Given the description of an element on the screen output the (x, y) to click on. 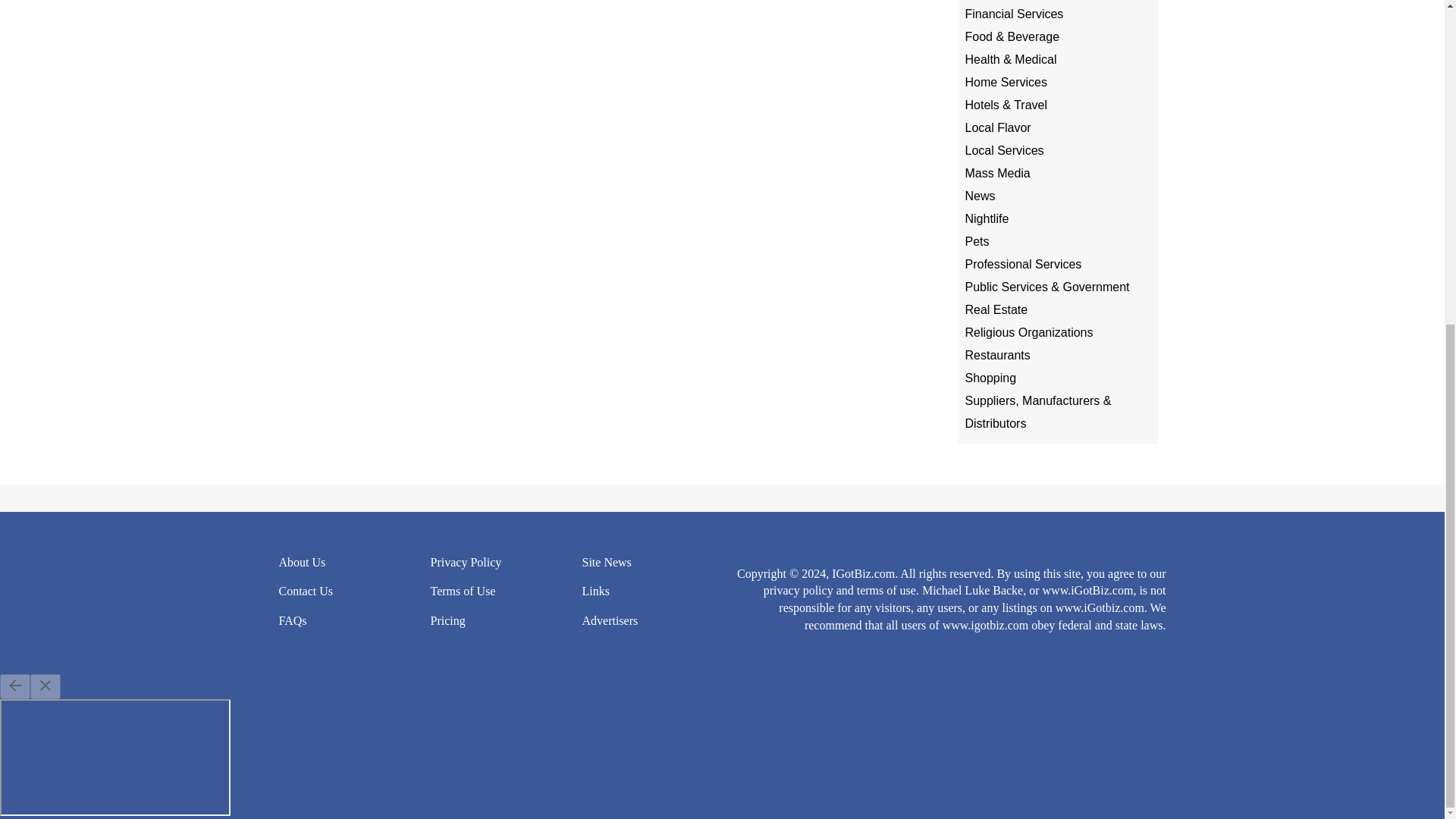
Local Services (1003, 150)
Local Flavor (996, 127)
Nightlife (986, 218)
Pets (975, 241)
News (978, 195)
Restaurants (996, 354)
Financial Services (1012, 13)
Professional Services (1022, 264)
Home Services (1004, 82)
Real Estate (995, 309)
Religious Organizations (1028, 332)
Contact Us (306, 590)
Shopping (989, 377)
Mass Media (996, 173)
About Us (302, 562)
